Given the description of an element on the screen output the (x, y) to click on. 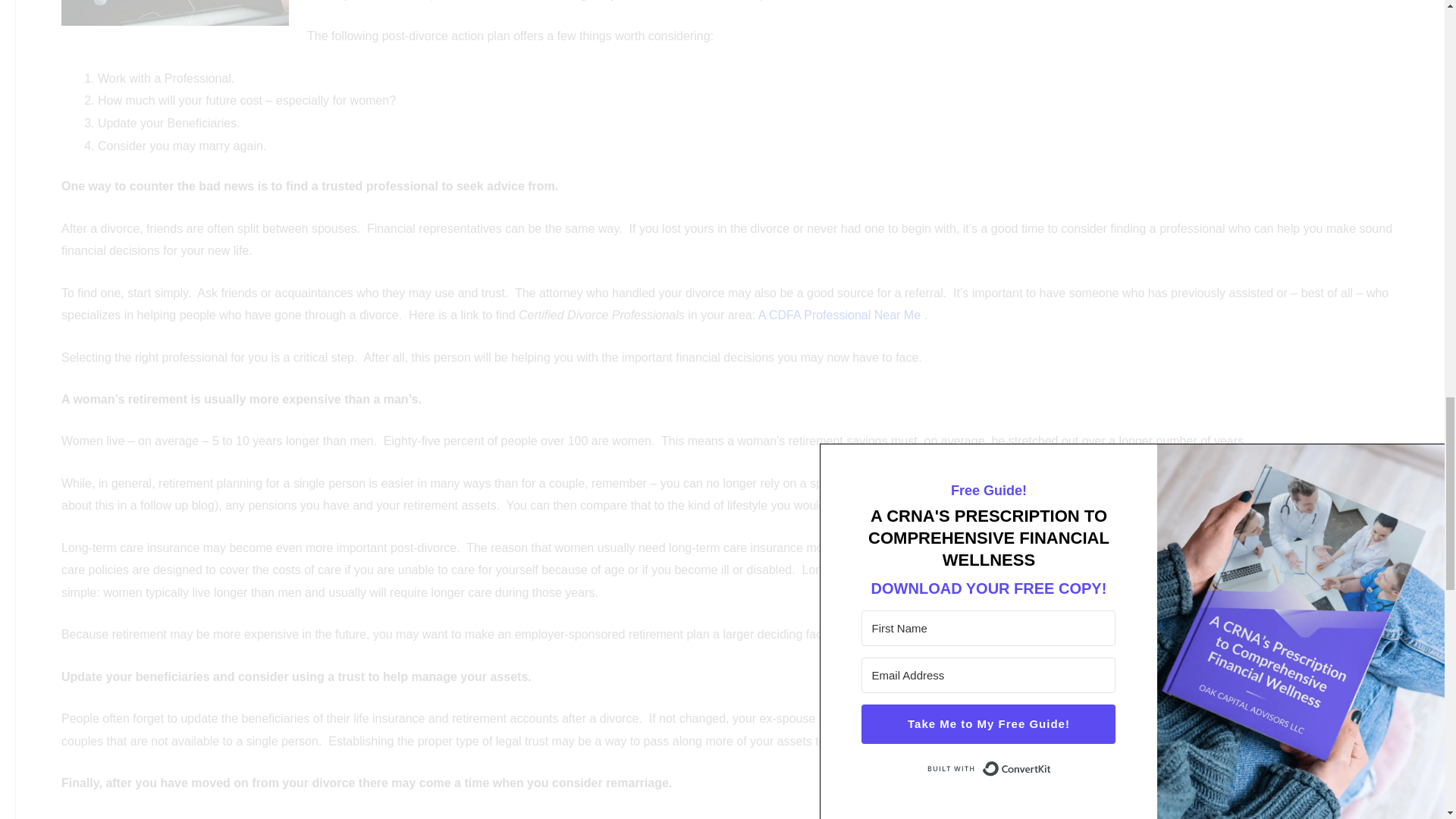
A CDFA Professional Near Me (839, 314)
